Given the description of an element on the screen output the (x, y) to click on. 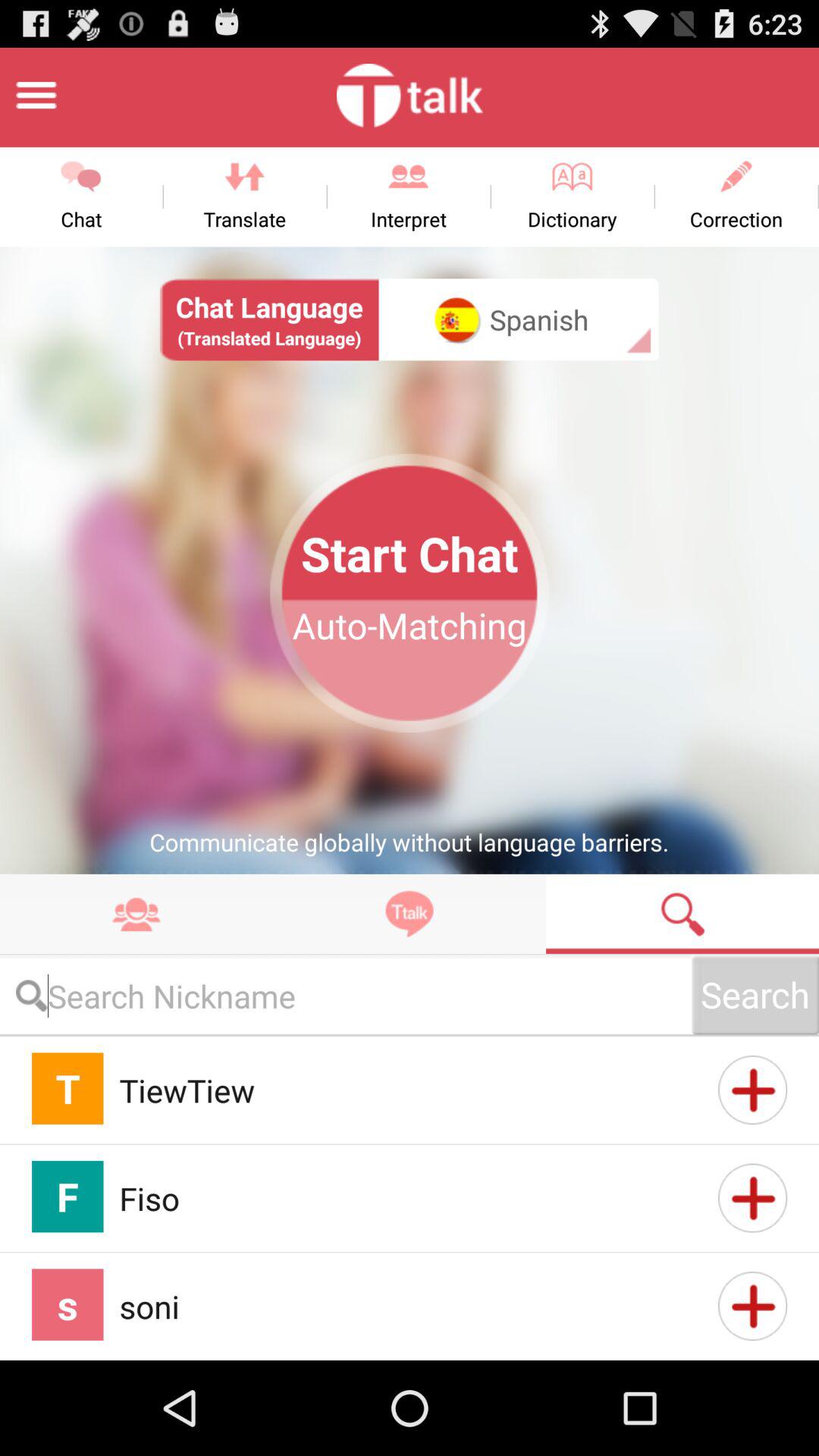
click for more information (752, 1089)
